Given the description of an element on the screen output the (x, y) to click on. 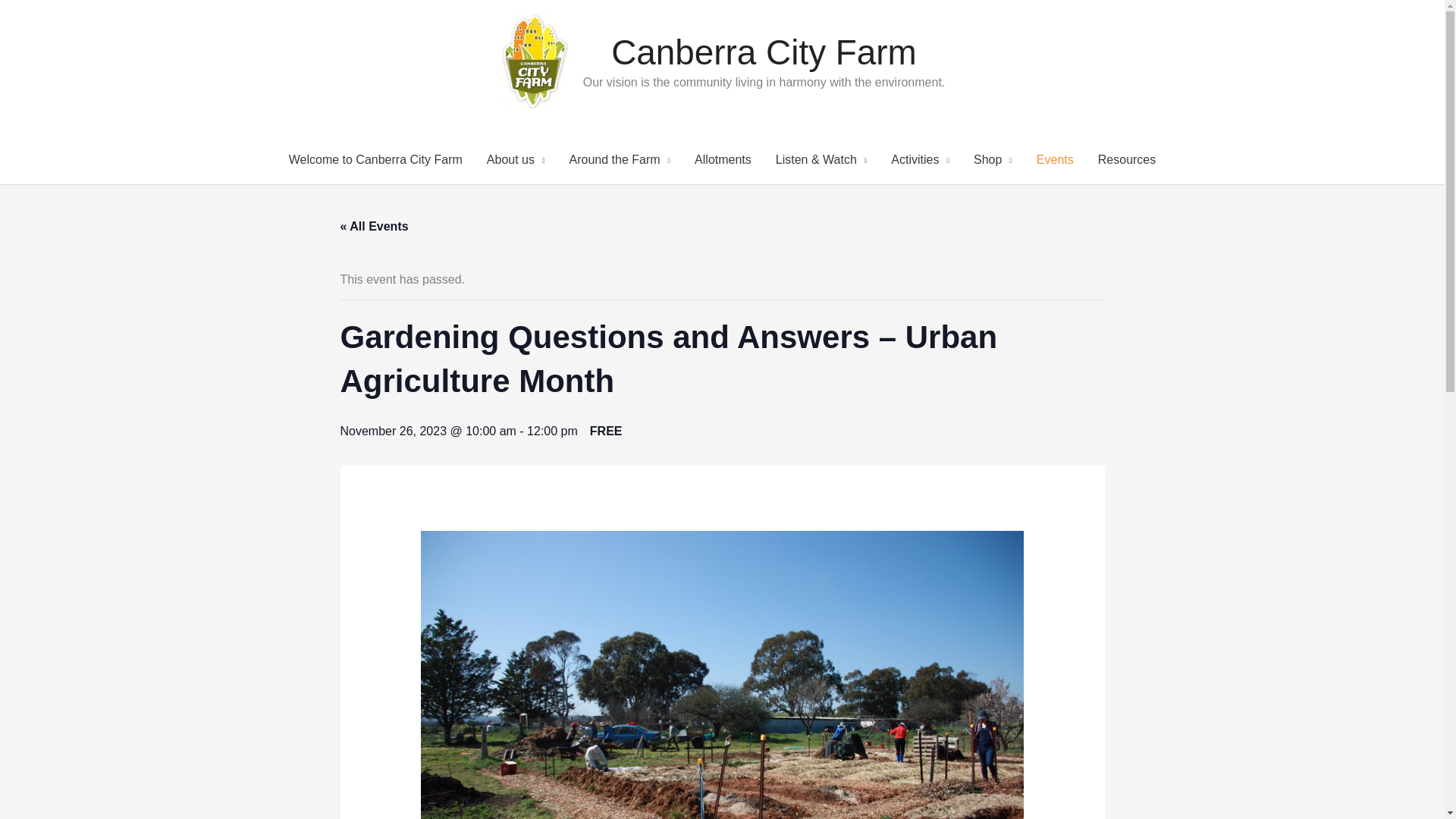
Around the Farm (619, 159)
Canberra City Farm (764, 52)
Activities (919, 159)
Welcome to Canberra City Farm (375, 159)
Allotments (722, 159)
About us (515, 159)
